Given the description of an element on the screen output the (x, y) to click on. 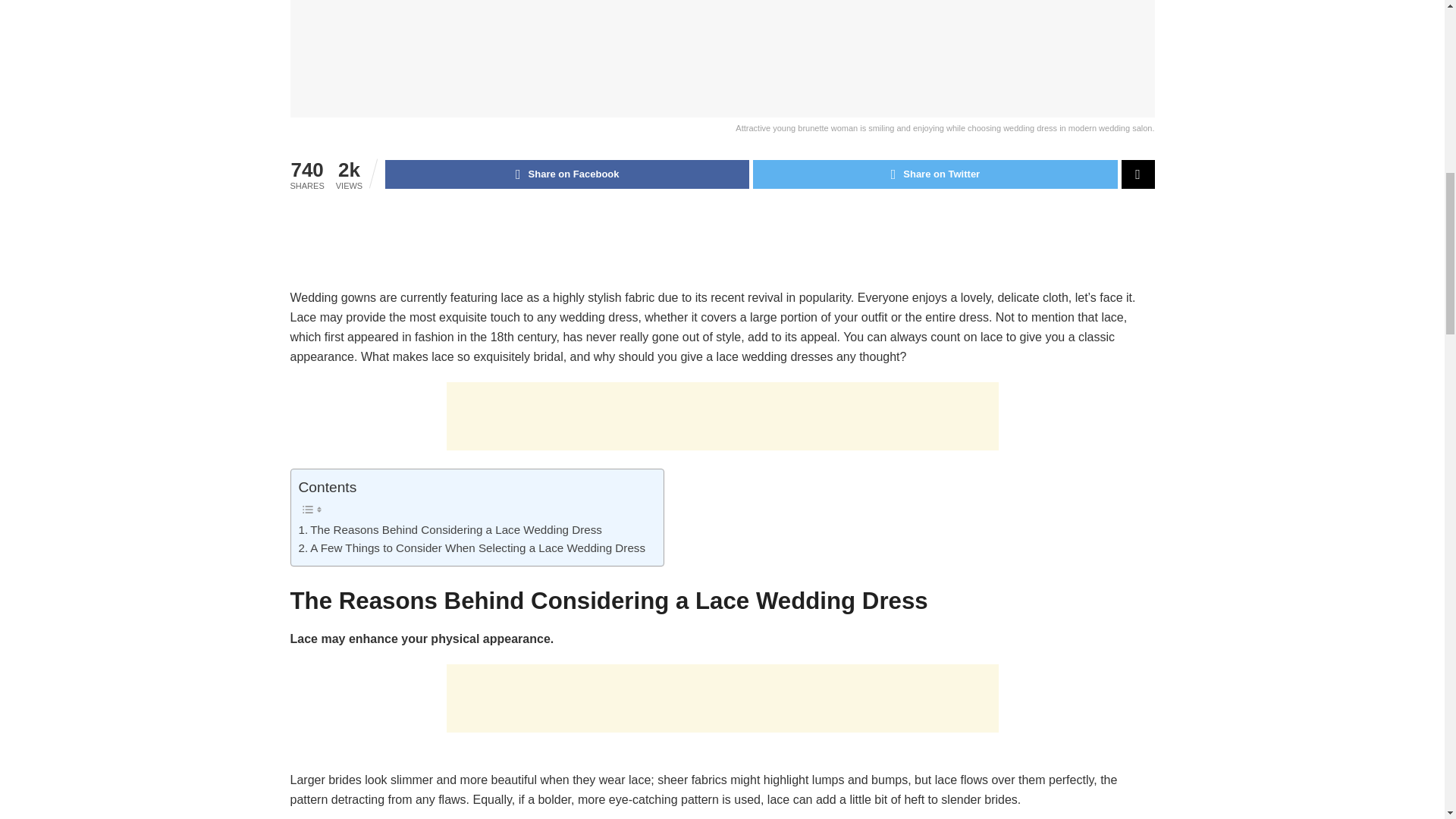
The Reasons Behind Considering a Lace Wedding Dress (450, 529)
Share on Facebook (567, 174)
Share on Twitter (934, 174)
The Reasons Behind Considering a Lace Wedding Dress (450, 529)
